Given the description of an element on the screen output the (x, y) to click on. 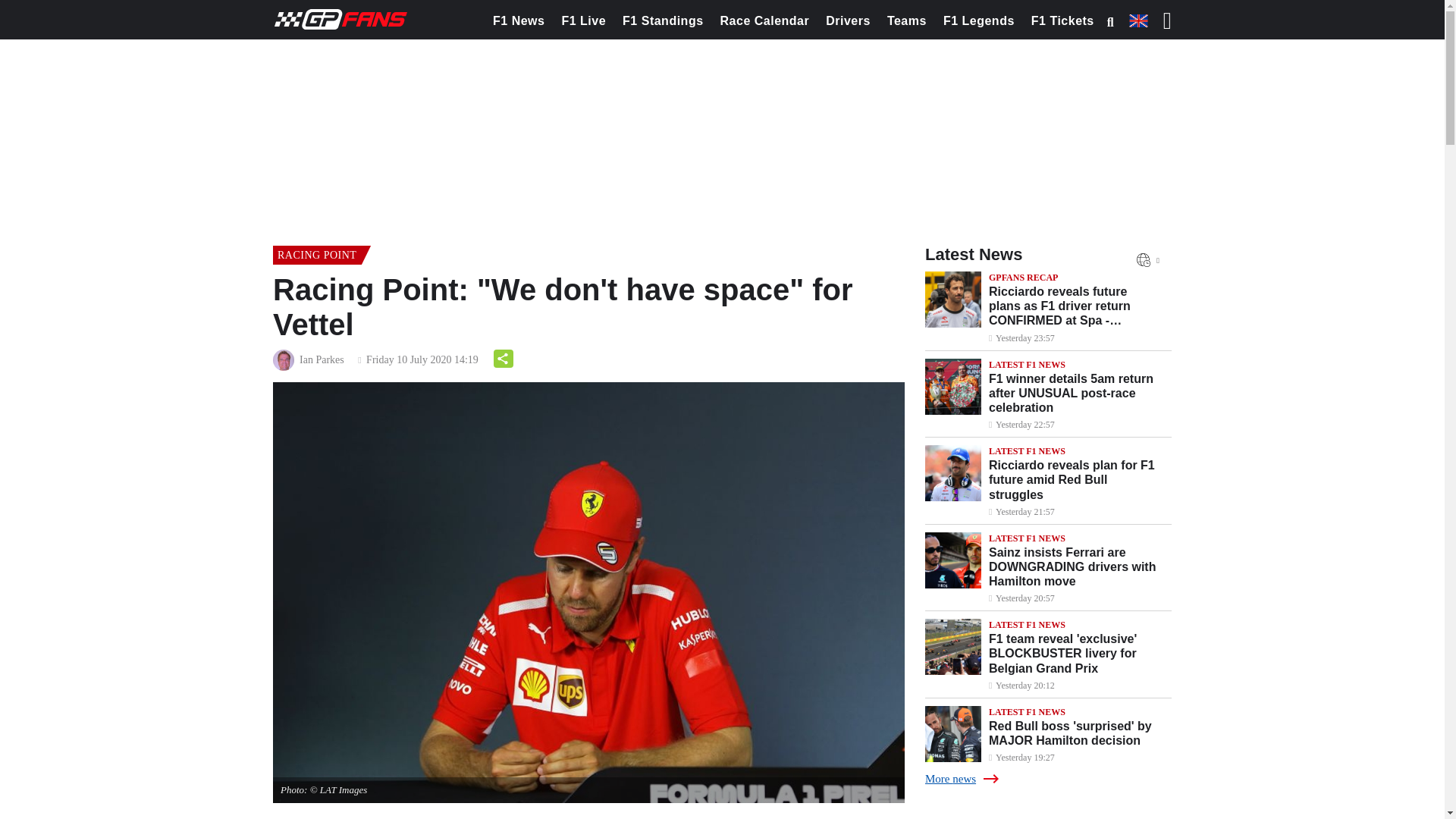
Timezone settings (1143, 259)
Drivers (848, 21)
F1 Standings (662, 21)
Ian Parkes (321, 360)
F1 Legends (978, 21)
F1 Tickets (1062, 21)
F1 Live (583, 21)
Teams (906, 21)
F1 News (518, 21)
Race Calendar (764, 21)
